Given the description of an element on the screen output the (x, y) to click on. 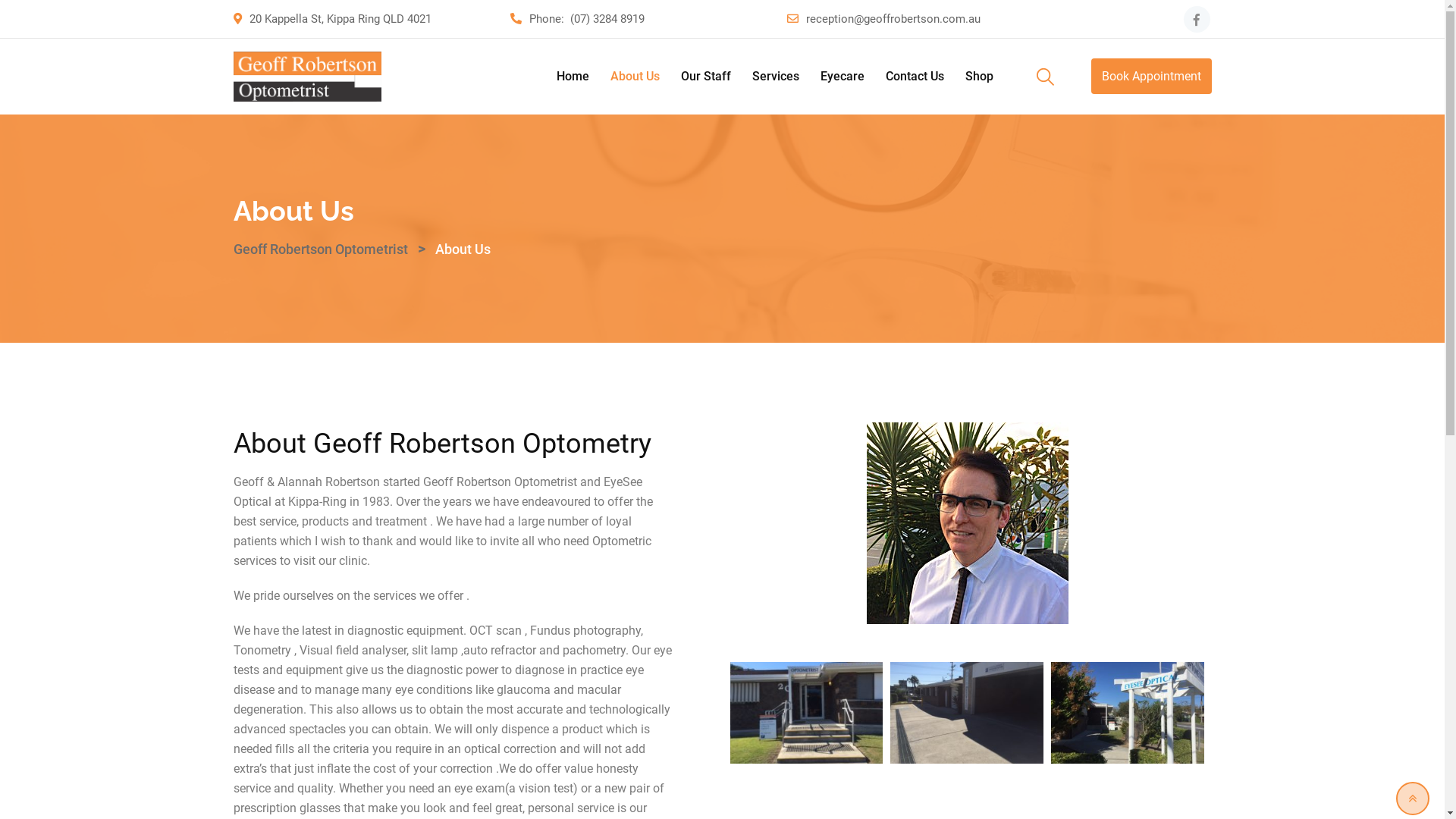
(07) 3284 8919 Element type: text (607, 18)
Home Element type: text (572, 76)
Book Appointment Element type: text (1150, 76)
reception@geoffrobertson.com.au Element type: text (892, 18)
Shop Element type: text (978, 76)
Geoff Robertson Optometrist Element type: text (320, 249)
About Us Element type: text (634, 76)
Services Element type: text (775, 76)
Contact Us Element type: text (914, 76)
Our Staff Element type: text (705, 76)
Eyecare Element type: text (842, 76)
